Given the description of an element on the screen output the (x, y) to click on. 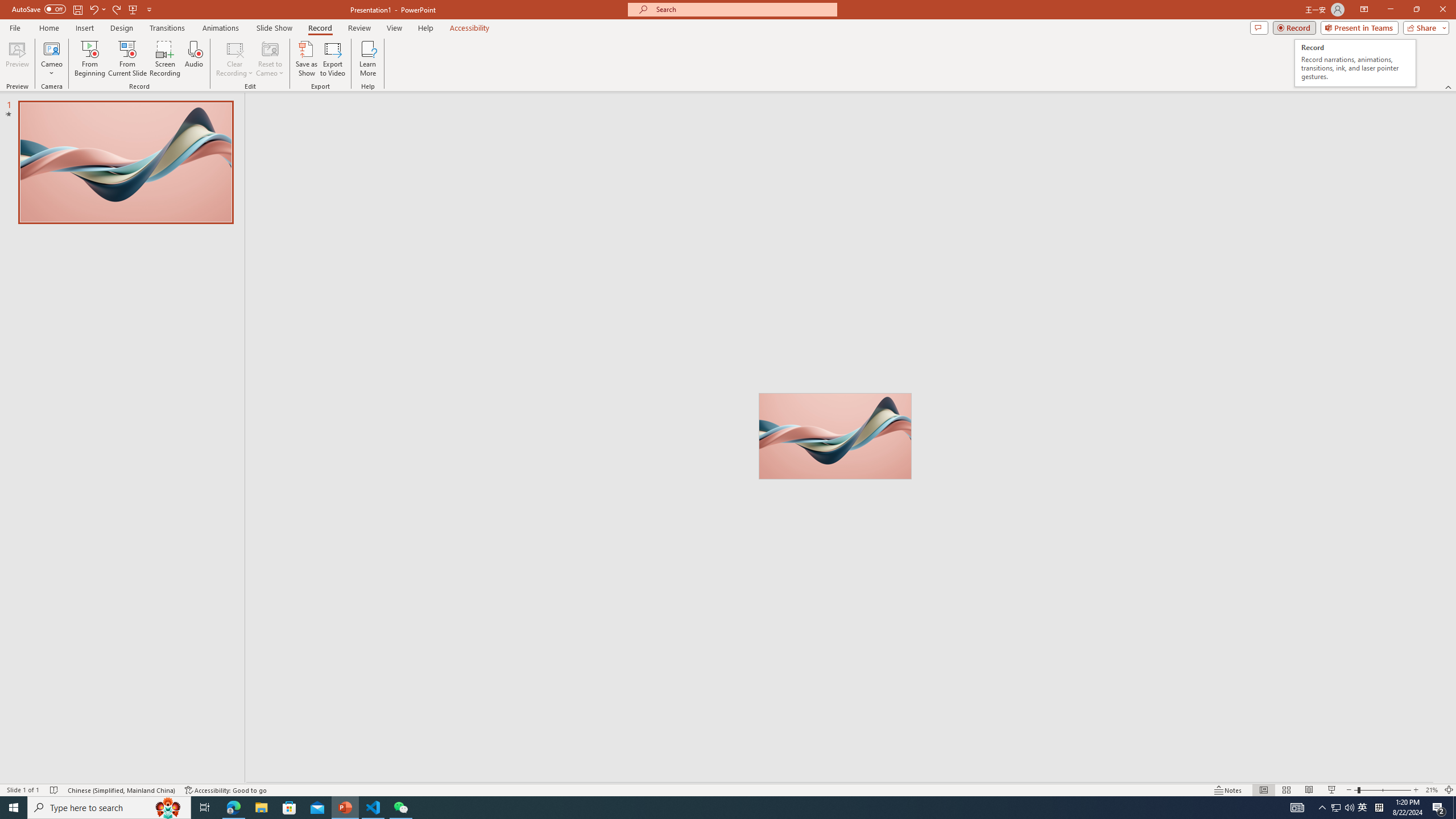
Zoom 21% (1431, 790)
Screen Recording (165, 58)
Reset to Cameo (269, 58)
